Given the description of an element on the screen output the (x, y) to click on. 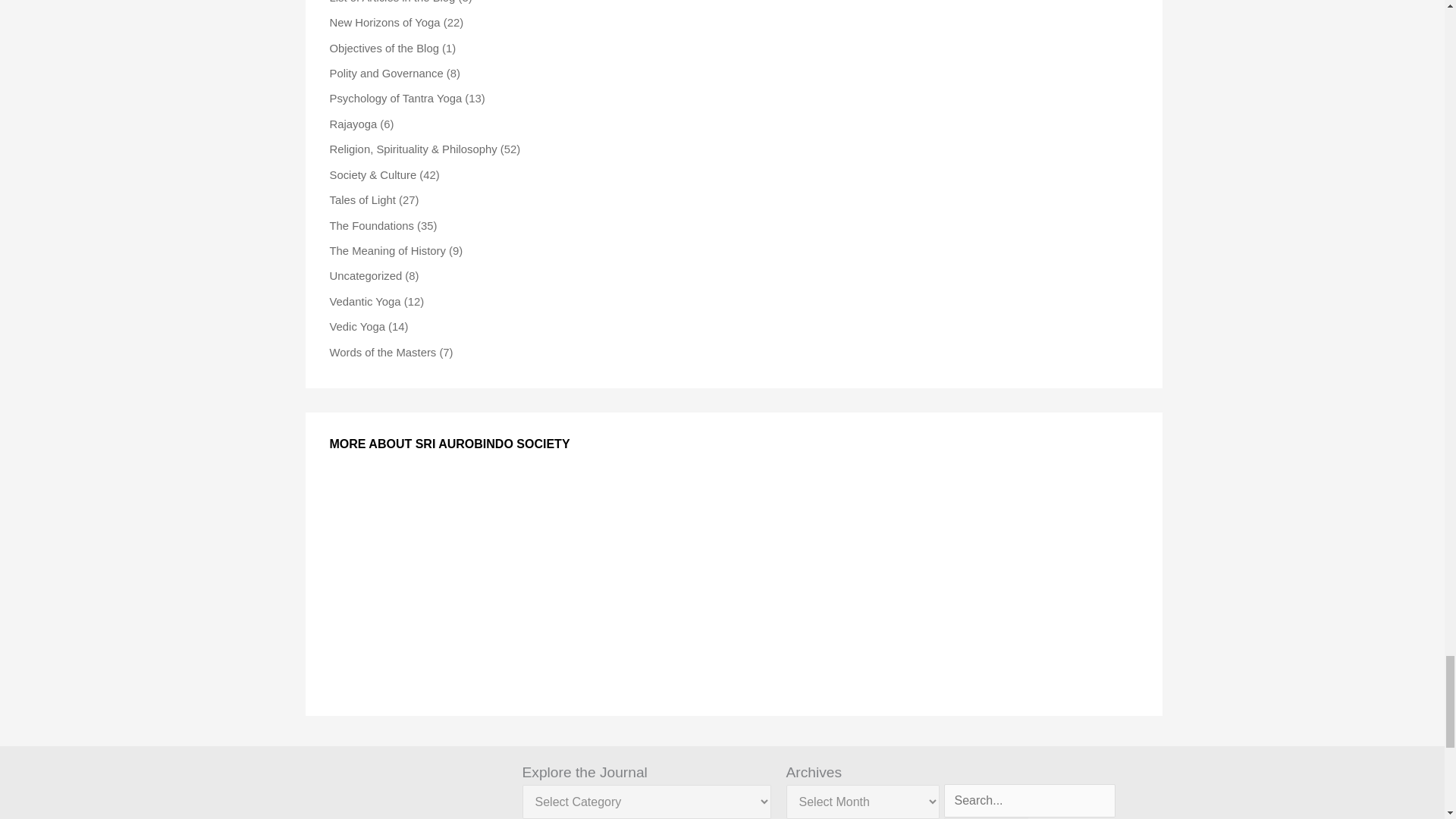
Objectives of the Blog (383, 48)
New Horizons of Yoga (384, 22)
Search (985, 818)
List of Articles in the Blog (391, 2)
Search (985, 818)
